Given the description of an element on the screen output the (x, y) to click on. 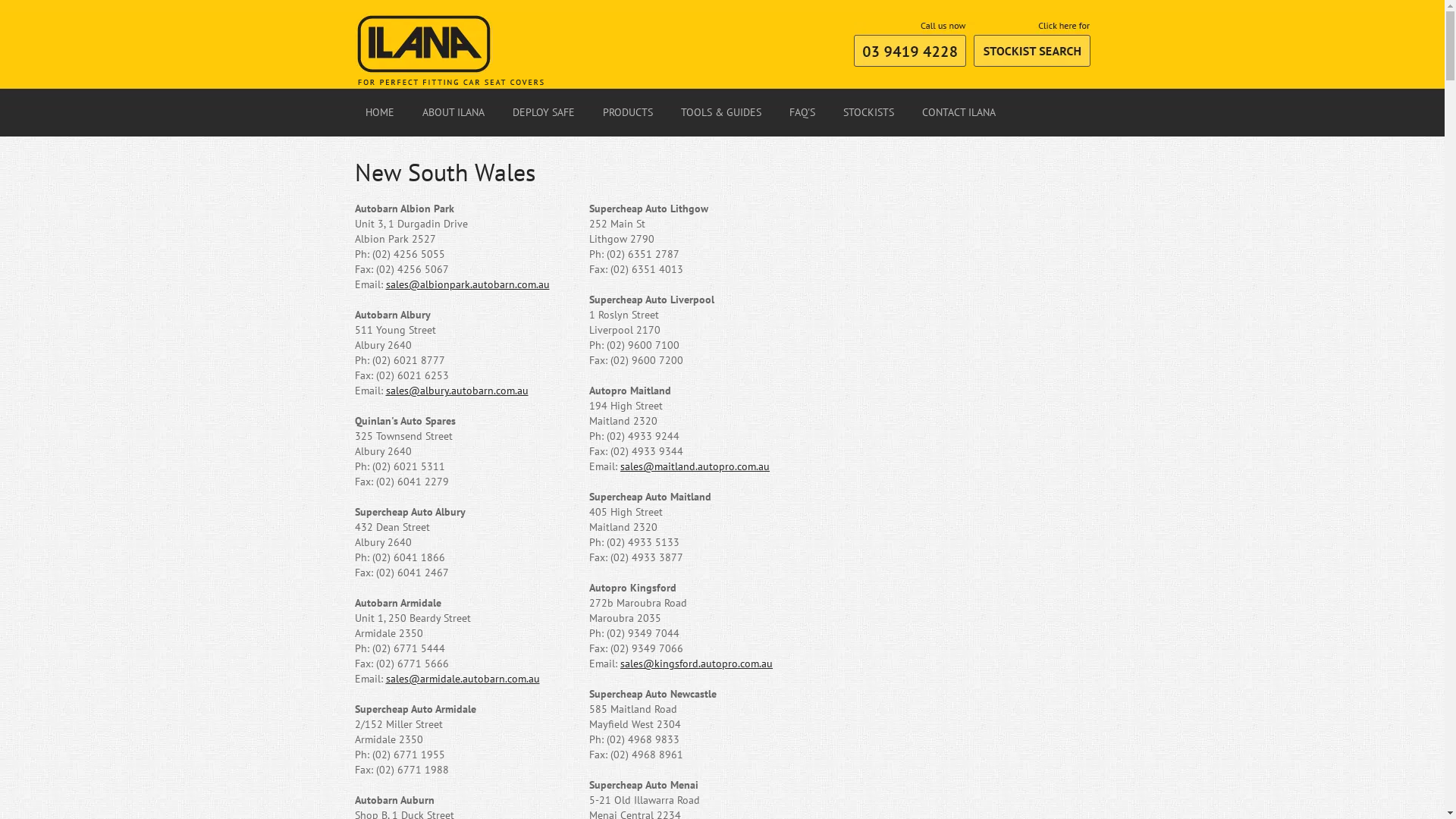
ABOUT ILANA Element type: text (452, 112)
HOME Element type: text (379, 112)
DEPLOY SAFE Element type: text (543, 112)
sales@kingsford.autopro.com.au Element type: text (696, 663)
CONTACT ILANA Element type: text (958, 112)
sales@maitland.autopro.com.au Element type: text (694, 466)
TOOLS & GUIDES Element type: text (720, 112)
STOCKISTS Element type: text (867, 112)
sales@albury.autobarn.com.au Element type: text (456, 390)
FAQ'S Element type: text (801, 112)
PRODUCTS Element type: text (626, 112)
sales@armidale.autobarn.com.au Element type: text (462, 678)
sales@albionpark.autobarn.com.au Element type: text (467, 284)
